Given the description of an element on the screen output the (x, y) to click on. 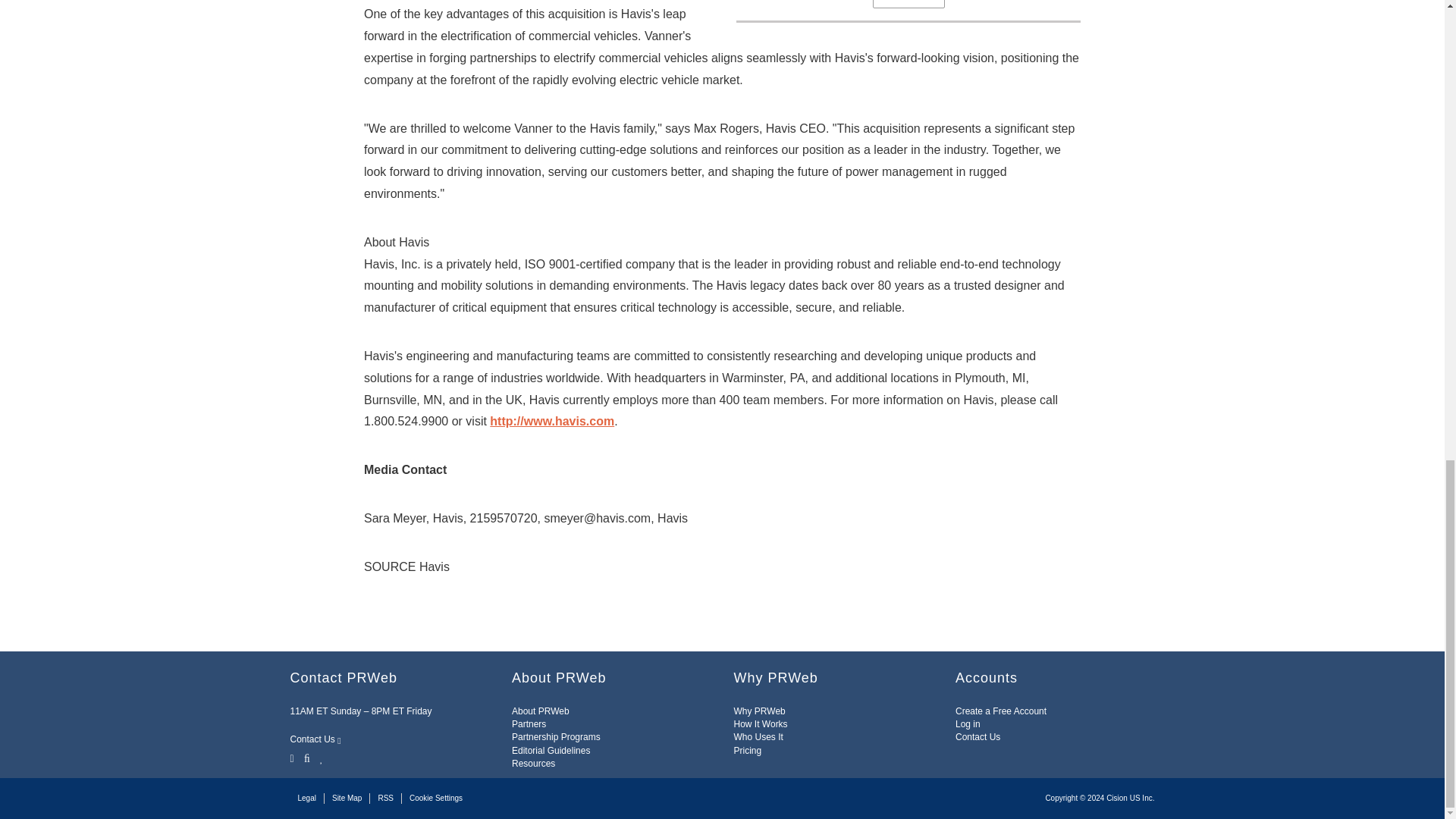
Editorial Guidelines (550, 750)
About PRWeb (540, 710)
Why PRWeb (759, 710)
Partners (529, 724)
How It Works (760, 724)
Partnership Programs (555, 737)
Resources (533, 763)
Facebook (306, 757)
Who Uses It (758, 737)
